Given the description of an element on the screen output the (x, y) to click on. 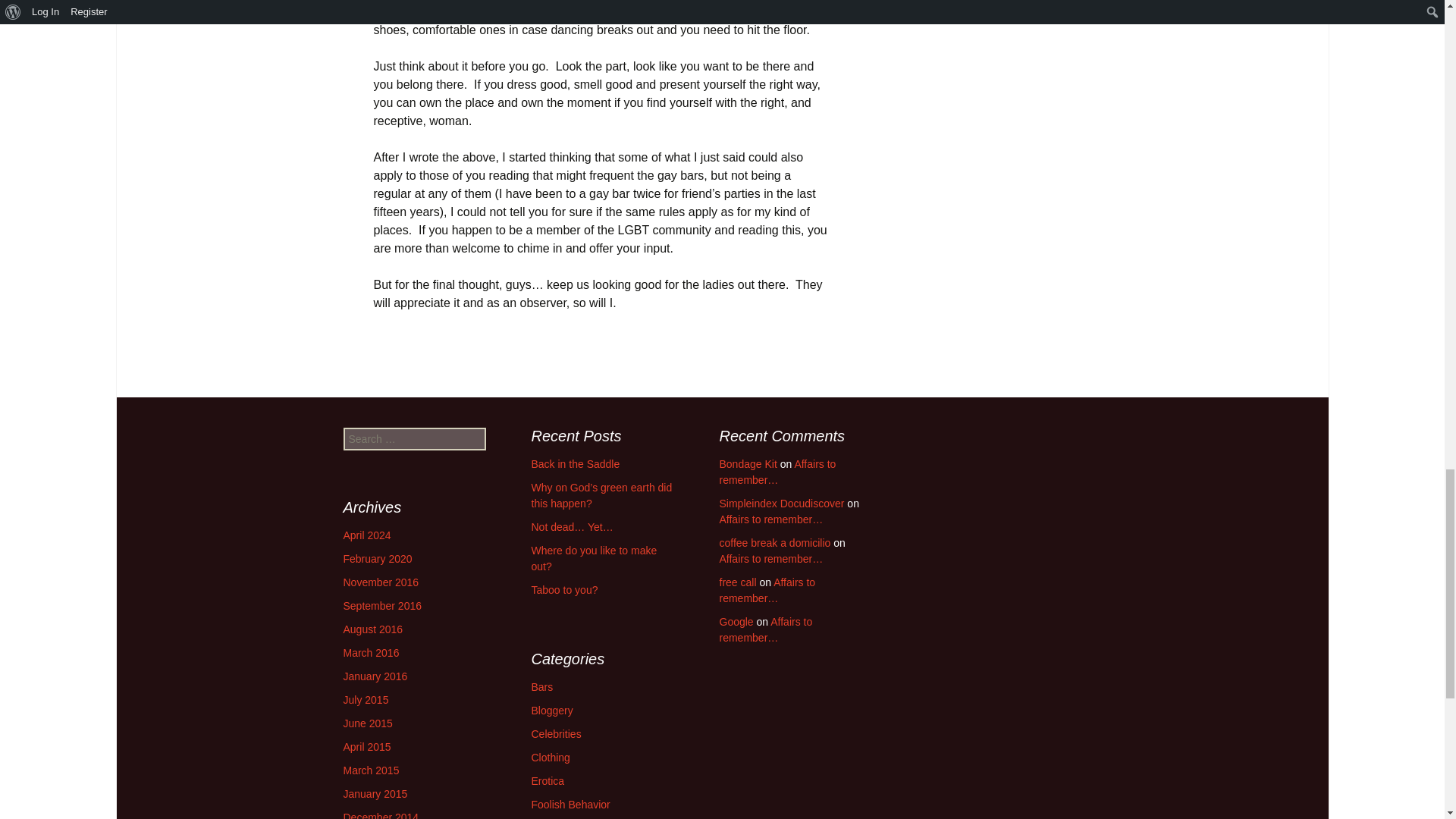
Bondage Kit (747, 463)
Simpleindex Docudiscover (781, 503)
Back in the Saddle (575, 463)
Where do you like to make out? (593, 558)
Taboo to you? (563, 589)
